Given the description of an element on the screen output the (x, y) to click on. 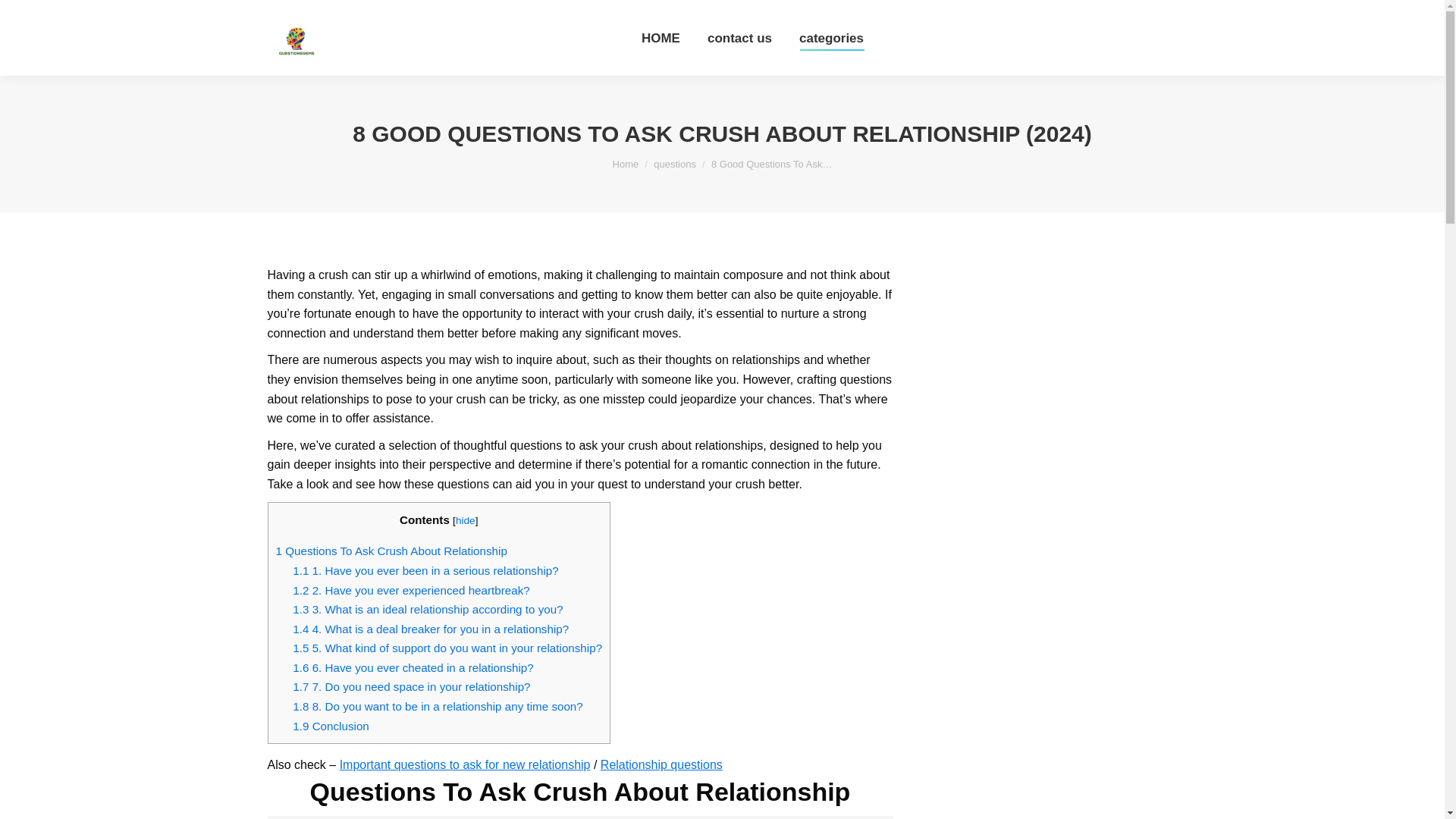
Relationship questions (660, 764)
1 Questions To Ask Crush About Relationship (391, 550)
1.1 1. Have you ever been in a serious relationship? (424, 570)
HOME (660, 37)
1.8 8. Do you want to be in a relationship any time soon? (437, 706)
Home (625, 163)
categories (831, 37)
questions (674, 163)
1.6 6. Have you ever cheated in a relationship? (412, 667)
hide (465, 520)
Important questions to ask for new relationship (465, 764)
1.4 4. What is a deal breaker for you in a relationship? (430, 628)
1.7 7. Do you need space in your relationship? (410, 686)
1.3 3. What is an ideal relationship according to you? (427, 608)
contact us (739, 37)
